Given the description of an element on the screen output the (x, y) to click on. 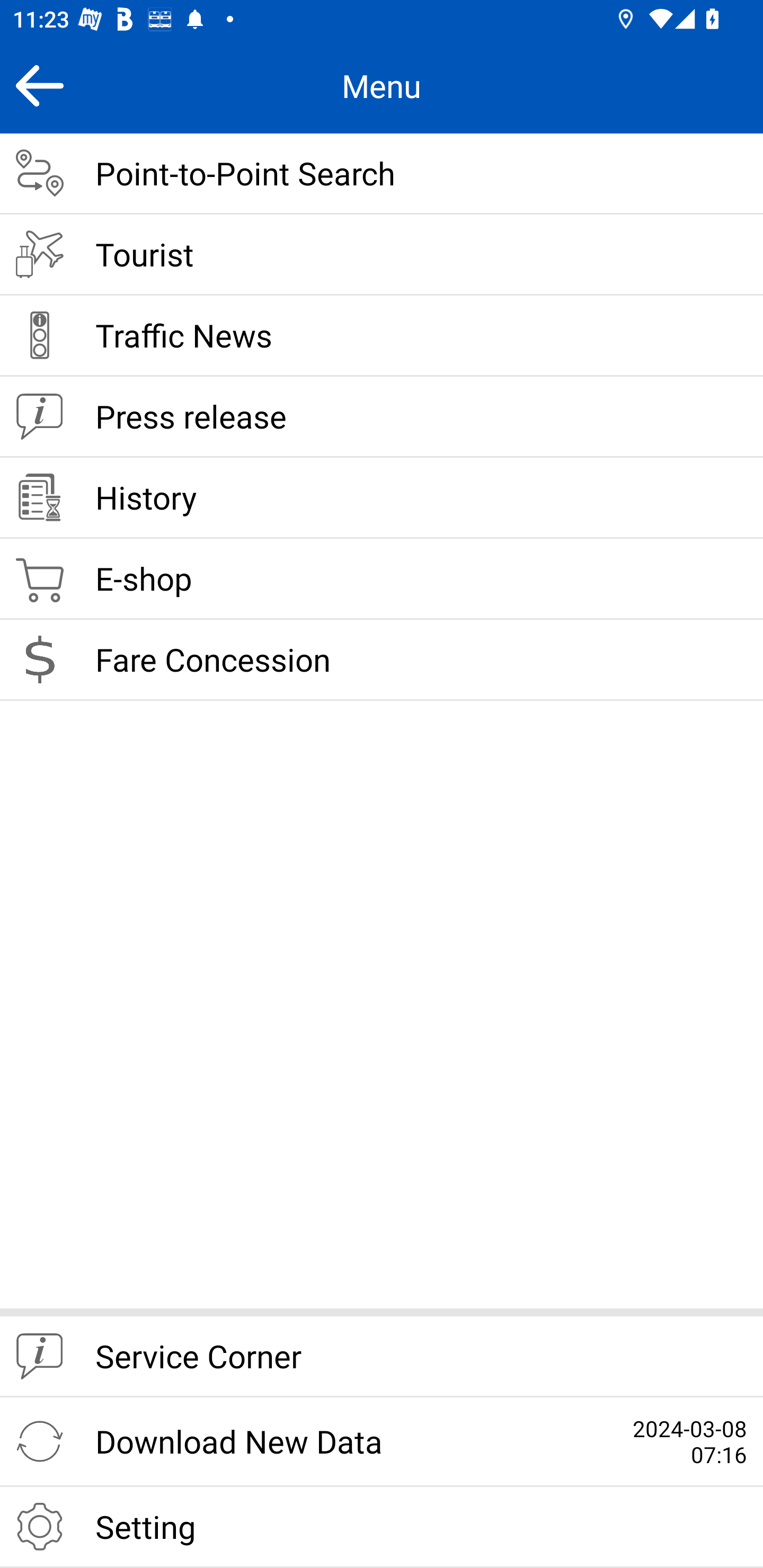
Back (39, 85)
Point-to-Point Search (381, 173)
Tourist (381, 255)
Traffic News (381, 336)
Press release (381, 416)
History (381, 498)
E-shop (381, 579)
Fare Concession (381, 659)
Service Corner (381, 1357)
Download New Data 2024-03-08
07:16 (381, 1441)
Setting (381, 1527)
